Given the description of an element on the screen output the (x, y) to click on. 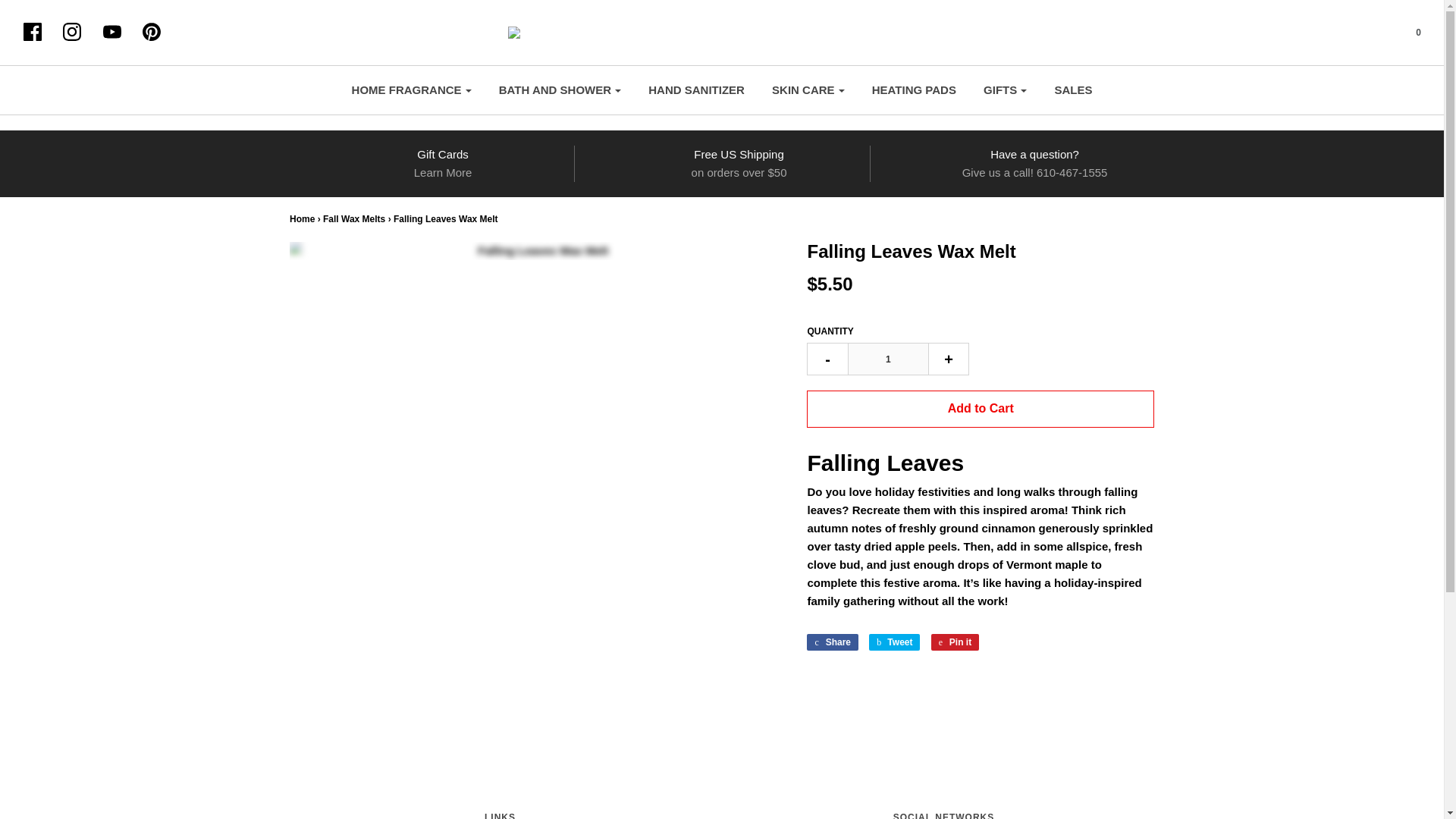
0 (1408, 31)
Facebook icon (32, 31)
Pinterest icon (159, 32)
HOME FRAGRANCE (411, 90)
Back to the frontpage (301, 218)
YouTube icon (119, 32)
YouTube icon (111, 31)
Pinterest icon (151, 31)
Instagram icon (79, 32)
Facebook icon (39, 32)
Instagram icon (71, 31)
1 (887, 359)
Cart (1408, 31)
